Given the description of an element on the screen output the (x, y) to click on. 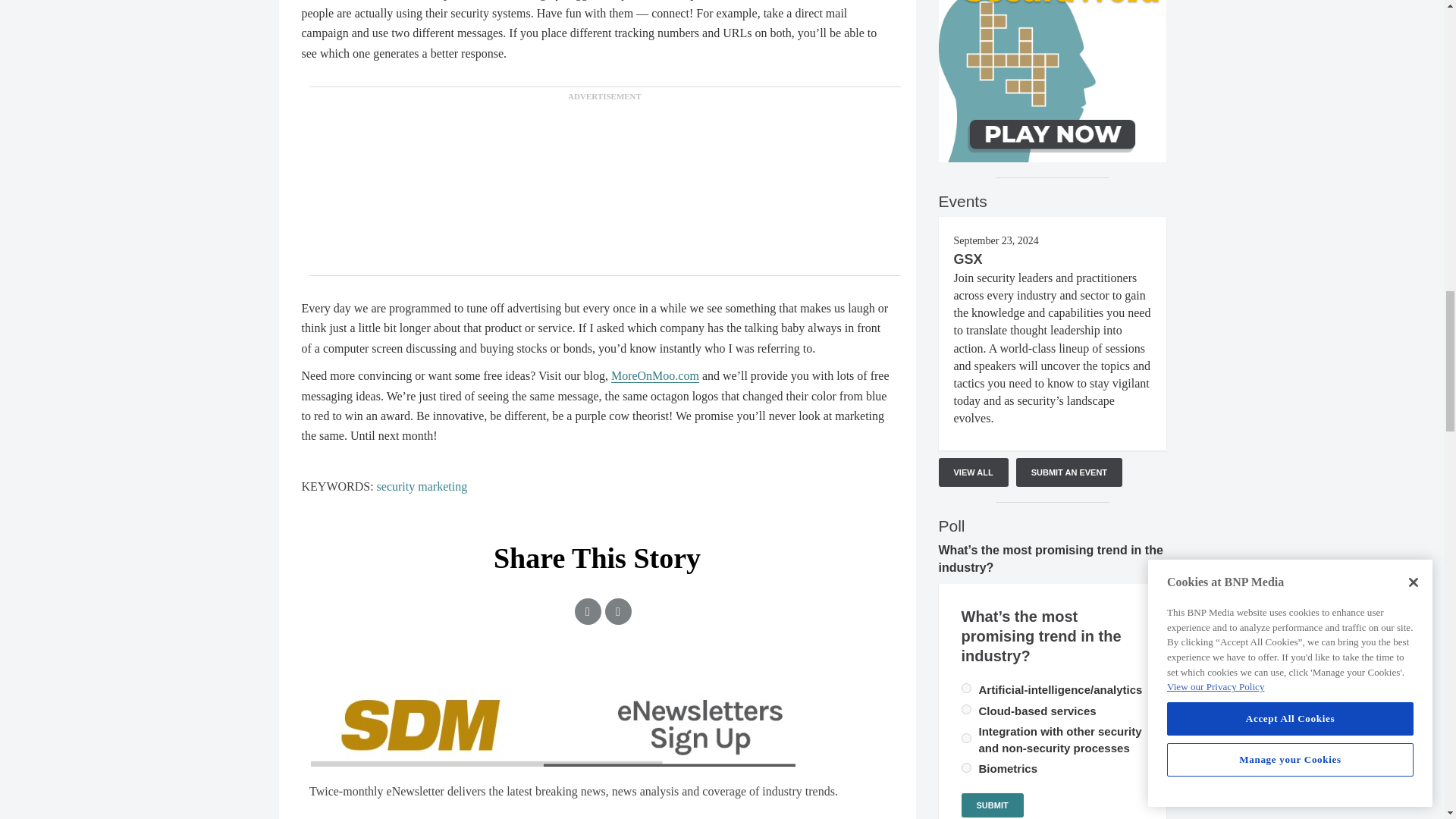
GSX (967, 258)
489 (965, 687)
Submit (991, 805)
492 (965, 767)
491 (965, 737)
Interaction questions (597, 746)
490 (965, 709)
